Given the description of an element on the screen output the (x, y) to click on. 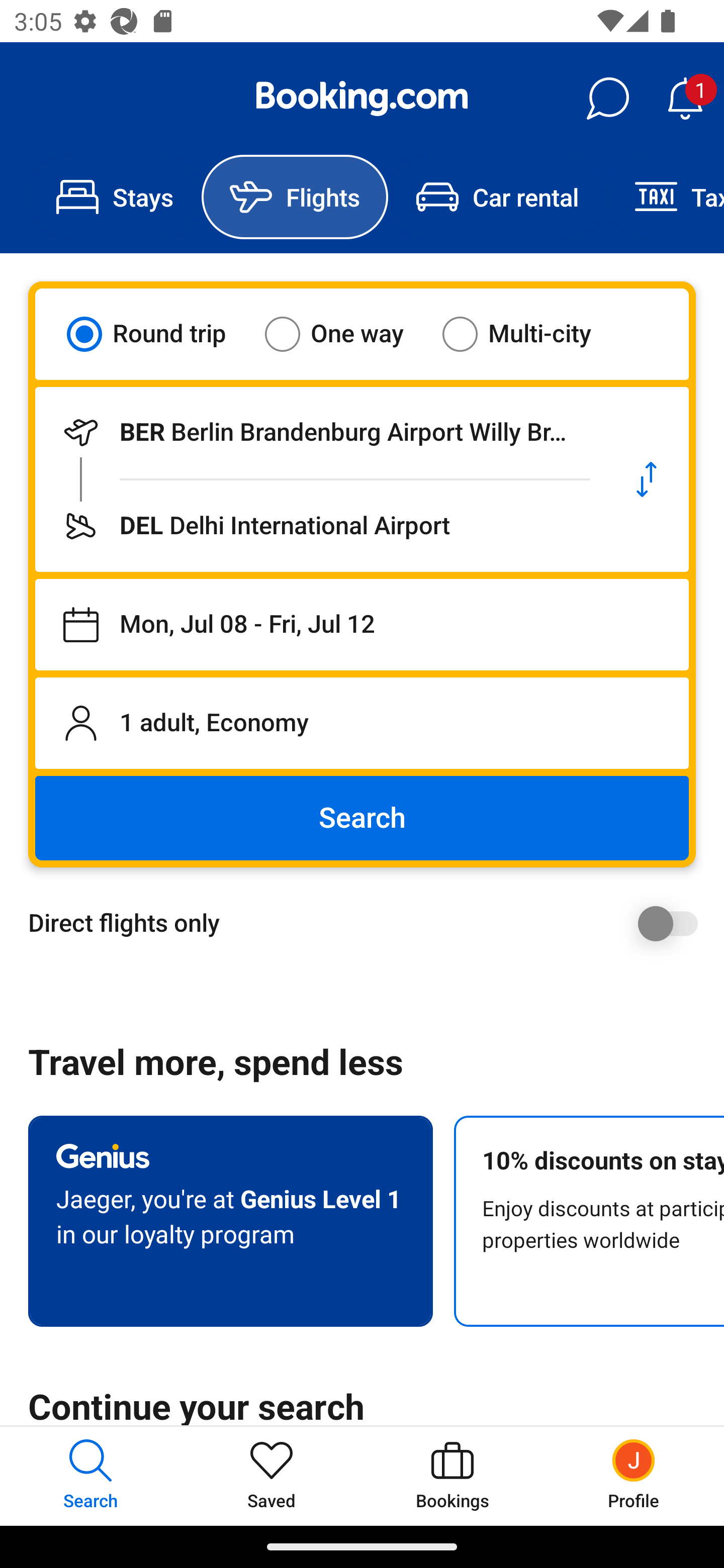
Messages (607, 98)
Notifications (685, 98)
Stays (114, 197)
Flights (294, 197)
Car rental (497, 197)
Taxi (665, 197)
One way (346, 333)
Multi-city (528, 333)
Swap departure location and destination (646, 479)
Flying to DEL Delhi International Airport (319, 525)
Departing on Mon, Jul 08, returning on Fri, Jul 12 (361, 624)
1 adult, Economy (361, 722)
Search (361, 818)
Direct flights only (369, 923)
Saved (271, 1475)
Bookings (452, 1475)
Profile (633, 1475)
